Given the description of an element on the screen output the (x, y) to click on. 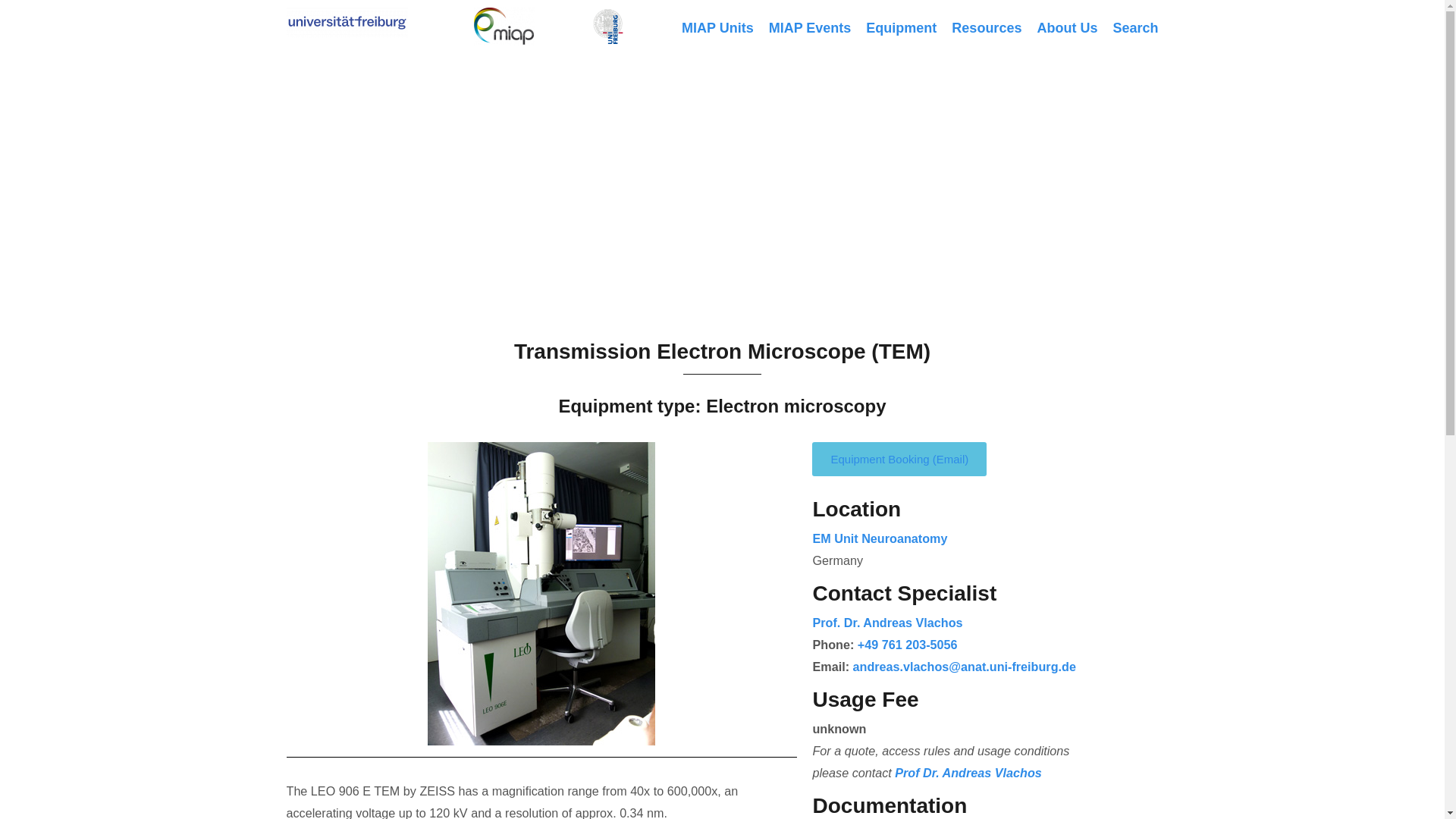
Uni Freiburg (346, 22)
MIAP Units (717, 27)
MIAP Events (809, 27)
